Given the description of an element on the screen output the (x, y) to click on. 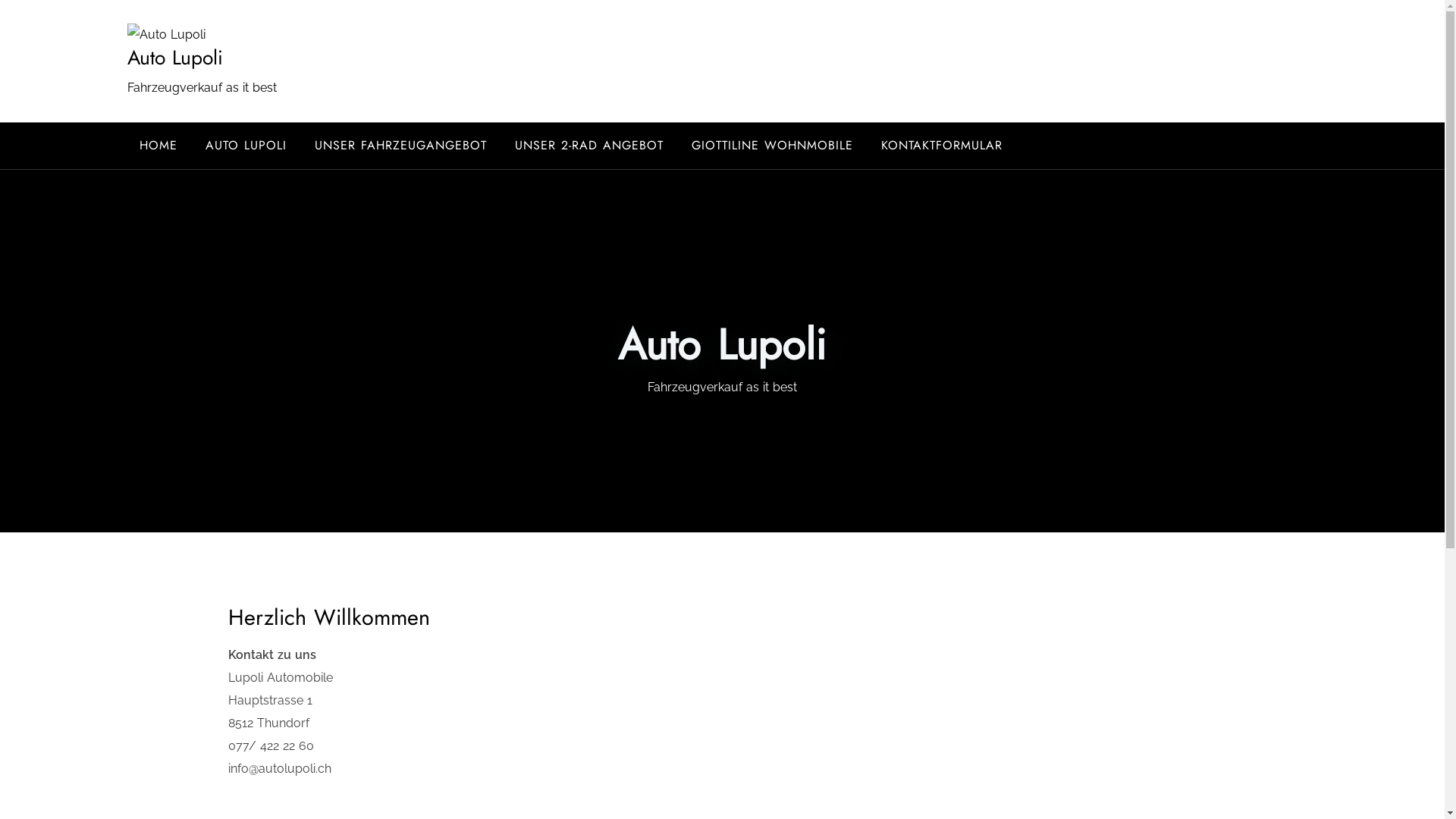
HOME Element type: text (158, 145)
KONTAKTFORMULAR Element type: text (941, 145)
Herzlich Willkommen Element type: text (328, 617)
UNSER 2-RAD ANGEBOT Element type: text (588, 145)
Auto Lupoli Element type: text (174, 57)
GIOTTILINE WOHNMOBILE Element type: text (772, 145)
UNSER FAHRZEUGANGEBOT Element type: text (399, 145)
AUTO LUPOLI Element type: text (245, 145)
